Given the description of an element on the screen output the (x, y) to click on. 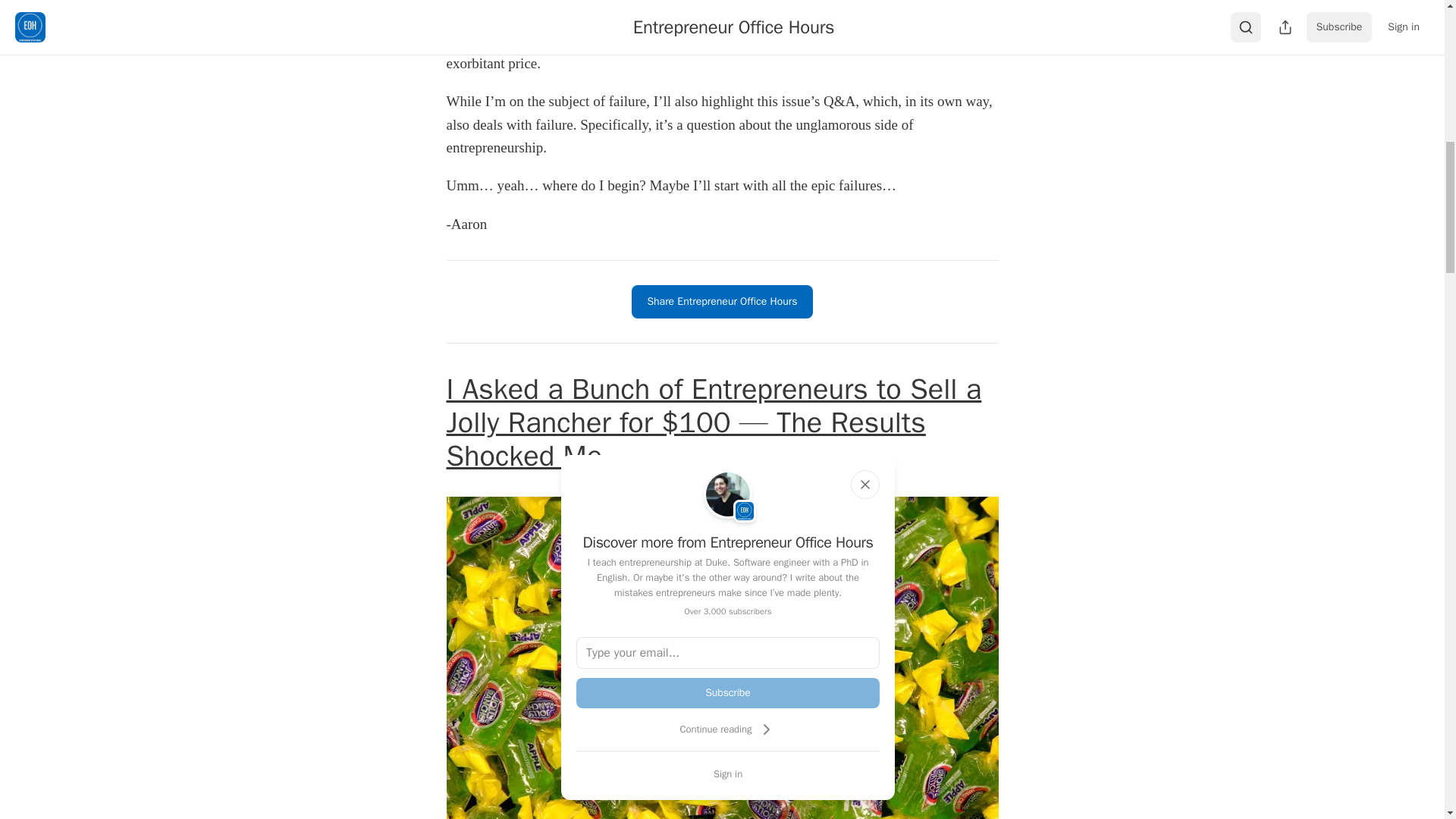
Sign in (727, 773)
Share Entrepreneur Office Hours (721, 301)
Subscribe (727, 693)
